Given the description of an element on the screen output the (x, y) to click on. 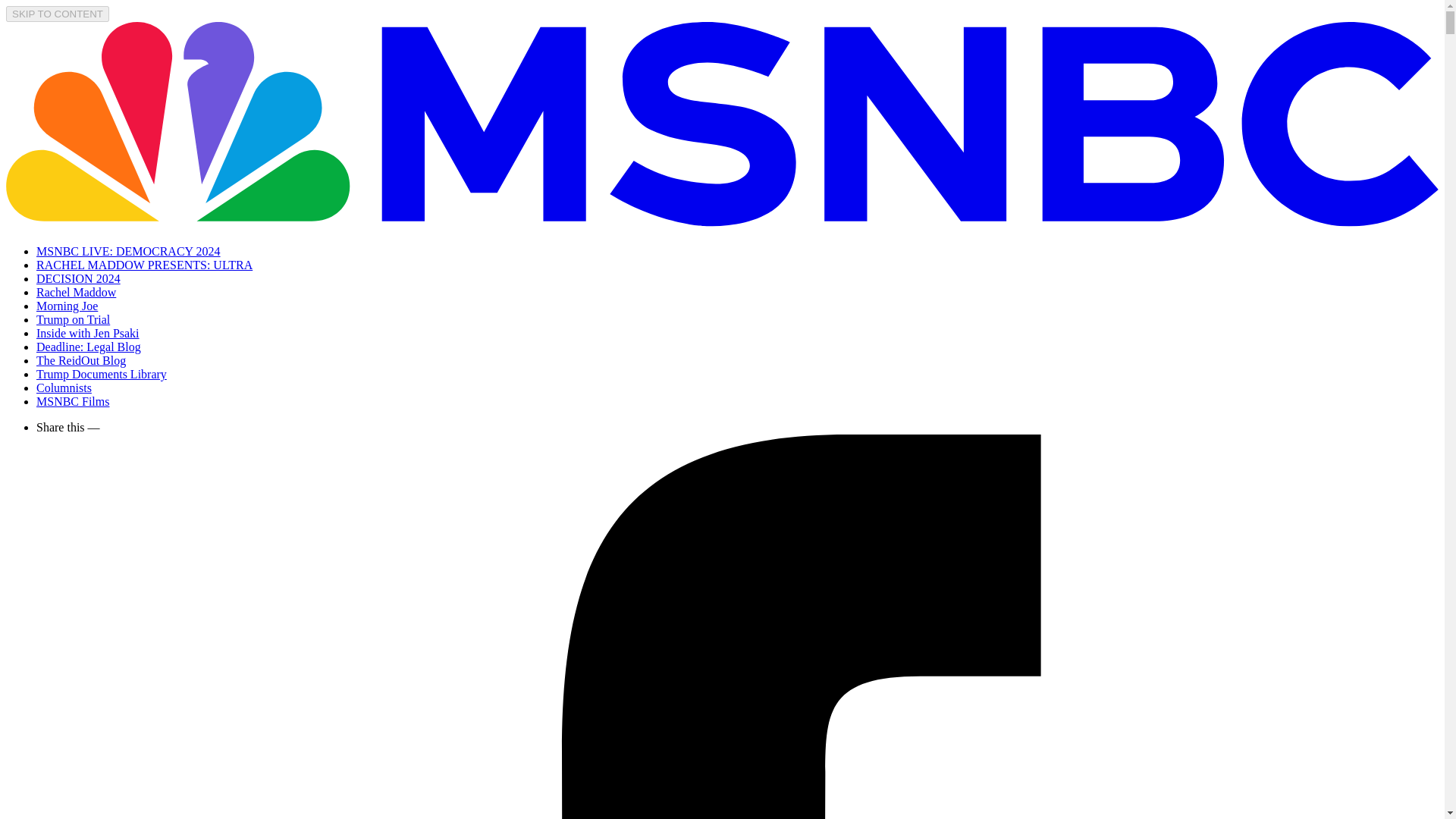
Columnists (63, 387)
MSNBC Films (72, 400)
Trump on Trial (73, 318)
RACHEL MADDOW PRESENTS: ULTRA (143, 264)
Inside with Jen Psaki (87, 332)
Rachel Maddow (76, 291)
Deadline: Legal Blog (88, 346)
Trump Documents Library (101, 373)
DECISION 2024 (78, 278)
The ReidOut Blog (80, 359)
